Given the description of an element on the screen output the (x, y) to click on. 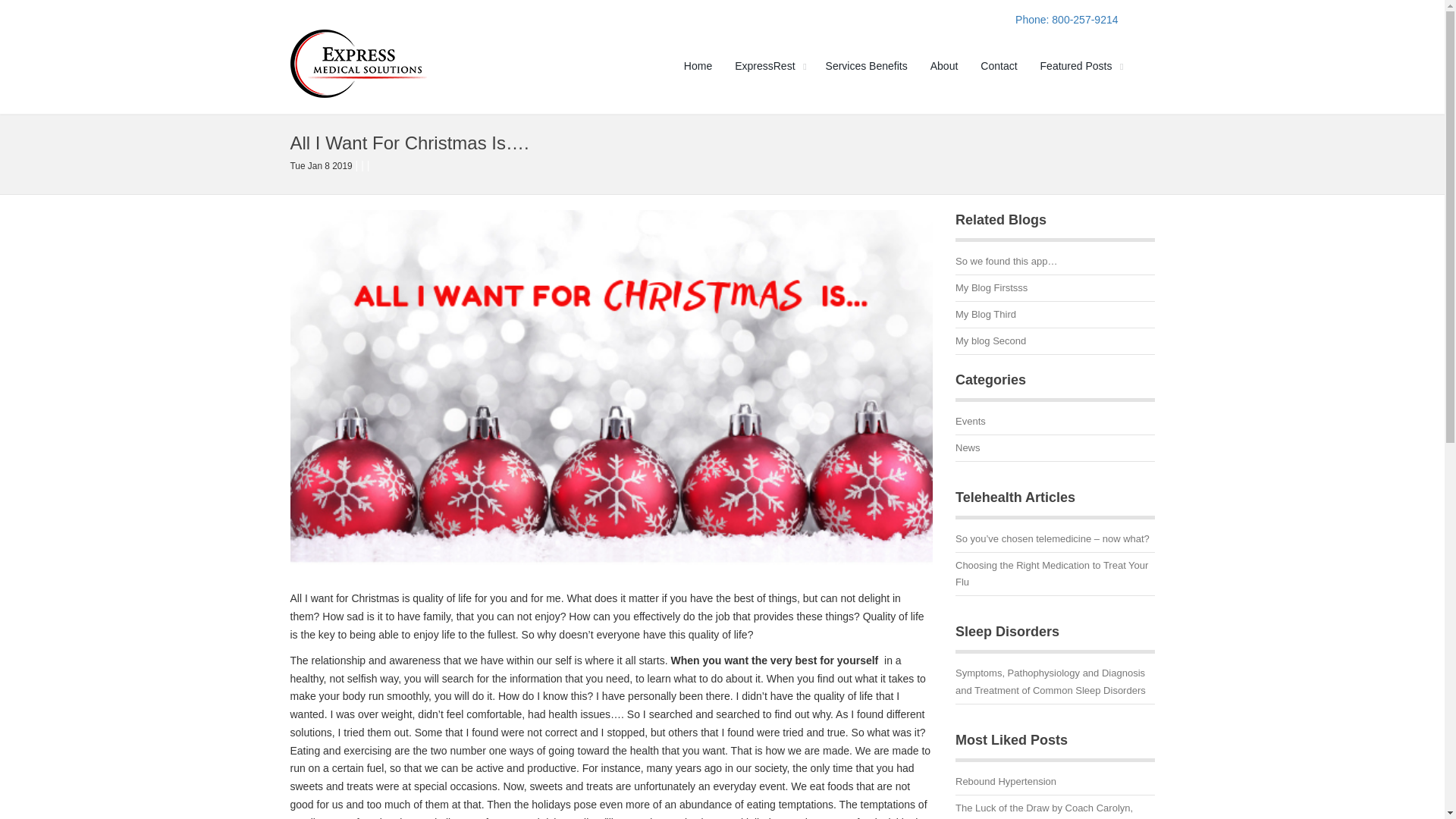
ExpressRest (768, 65)
Rebound Hypertension (1054, 784)
My Blog Third (1054, 317)
Featured Posts (1080, 65)
Phone: 800-257-9214 (1066, 19)
Services Benefits (865, 65)
ExpressRest (768, 65)
The Luck of the Draw by Coach Carolyn, Carolyn O'Byrne (1054, 809)
My blog Second (1054, 343)
My Blog Firstsss (1054, 291)
Services Benefits (865, 65)
Events (1054, 423)
Featured Posts (1080, 65)
News (1054, 450)
